Given the description of an element on the screen output the (x, y) to click on. 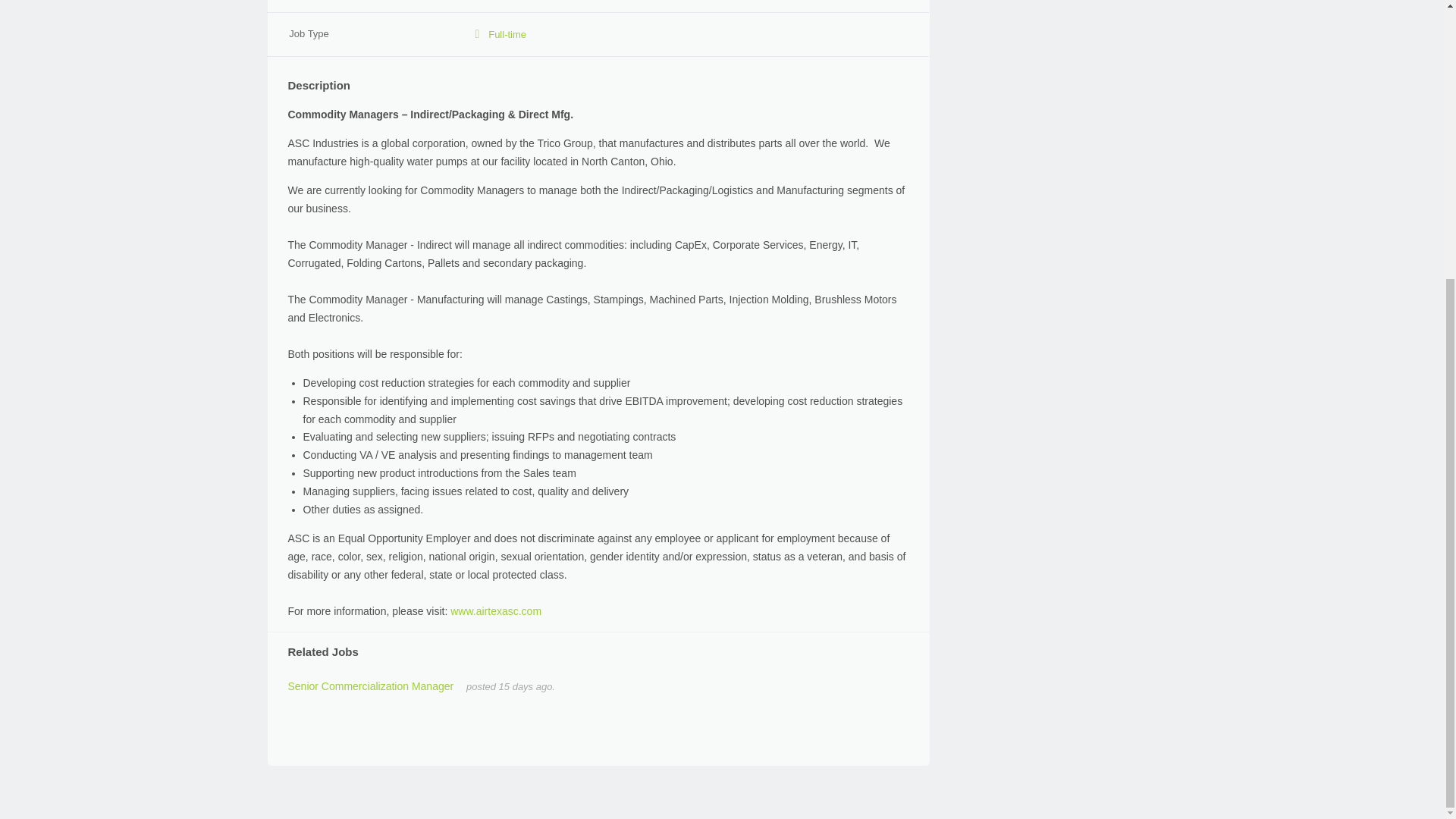
Senior Commercialization Manager (371, 686)
www.airtexasc.com (495, 611)
Full-time (506, 34)
